Given the description of an element on the screen output the (x, y) to click on. 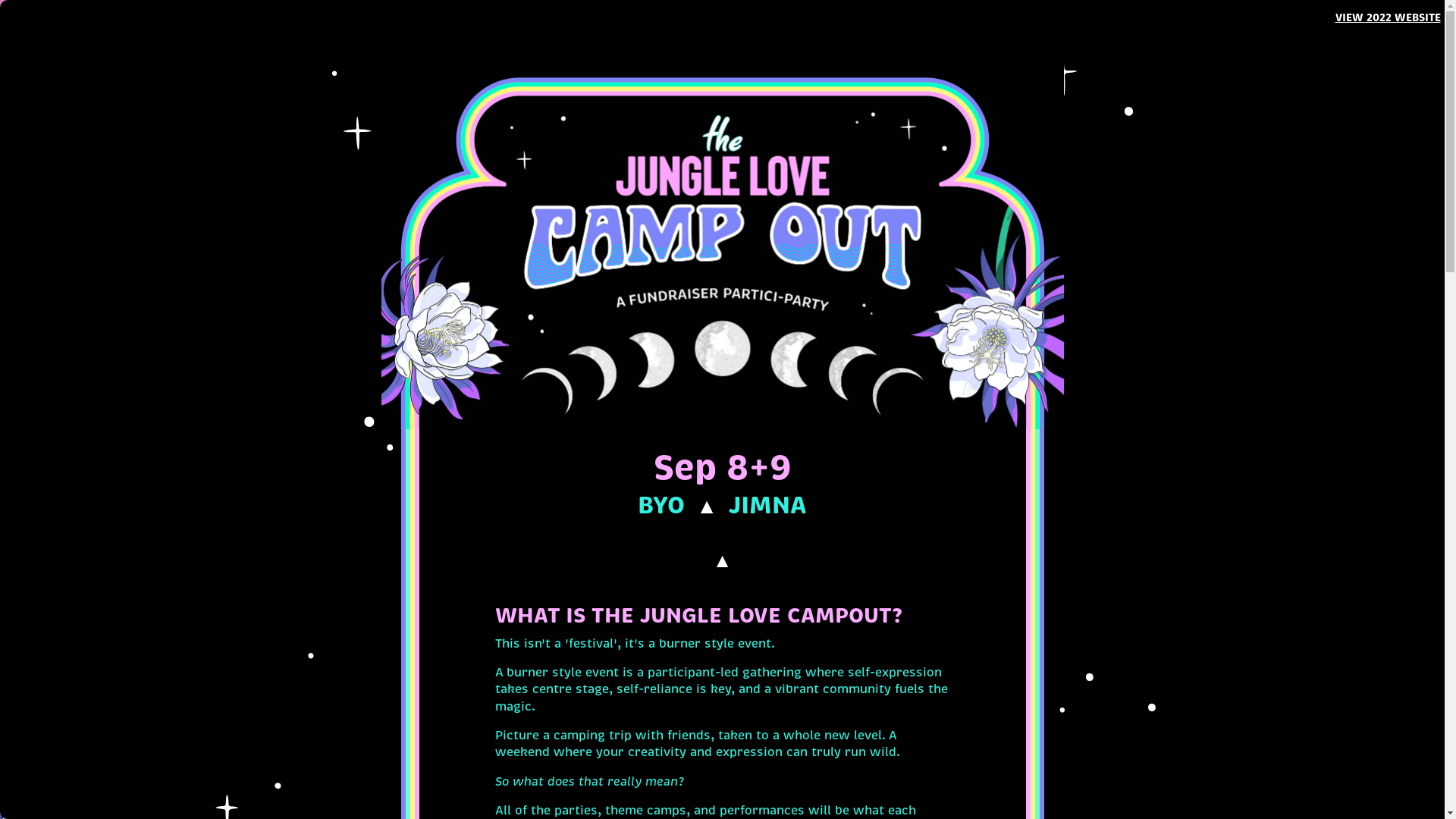
WHAT'S ON Element type: text (1000, 30)
FOOD VENDOR / MARKET STALL Element type: text (1276, 90)
EVENT INFO Element type: text (1180, 81)
ABOUT Element type: text (1085, 30)
SHOP Element type: text (1273, 30)
MUSIC Element type: text (1095, 81)
APPLICATIONS Element type: text (1181, 30)
MUSIC Element type: text (1276, 81)
Skip to main content Element type: text (0, 0)
VIEW 2022 WEBSITE Element type: text (1387, 17)
Tickets Element type: text (1371, 30)
